Given the description of an element on the screen output the (x, y) to click on. 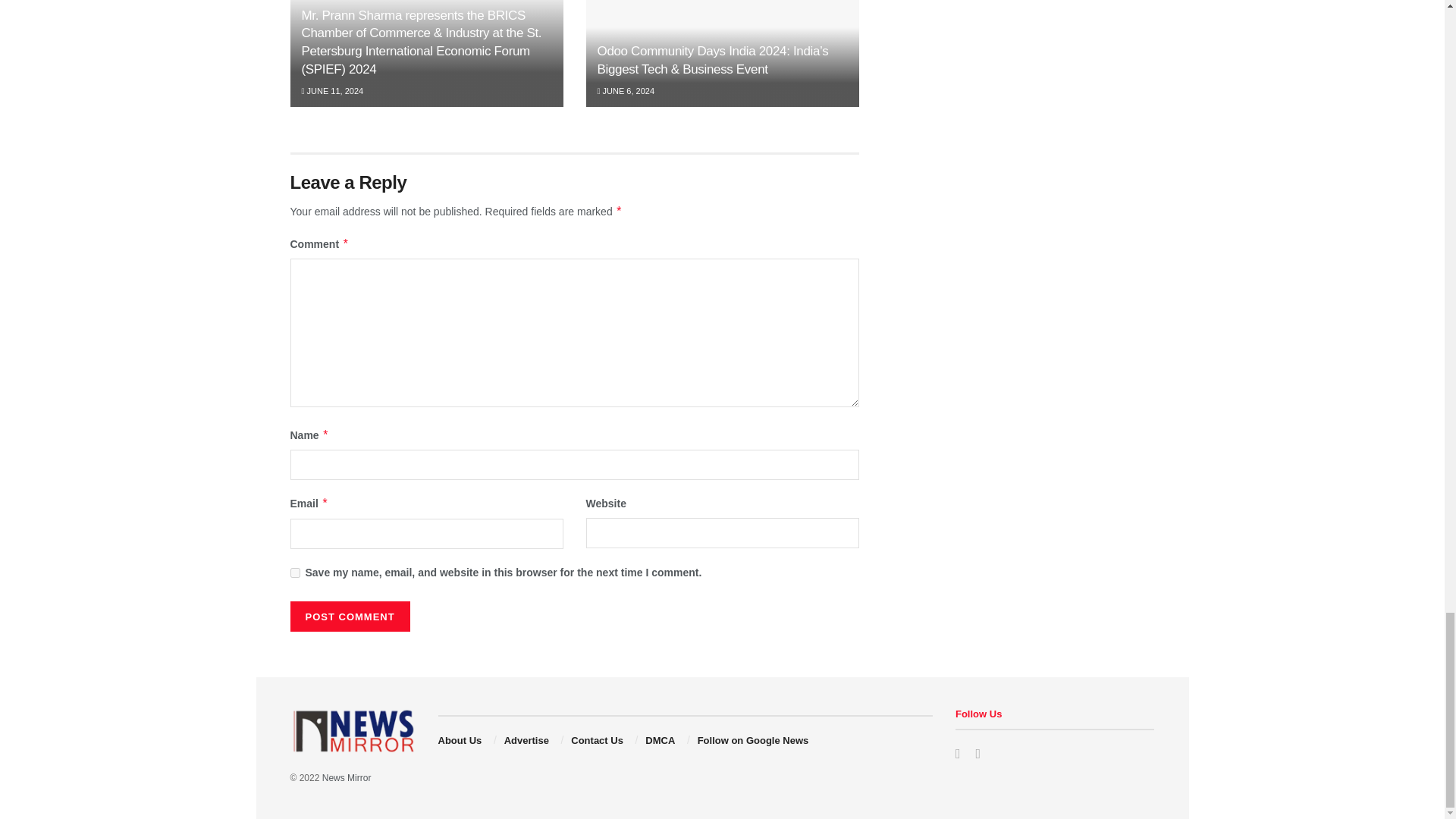
News Mirror (346, 777)
yes (294, 573)
Post Comment (349, 616)
